Given the description of an element on the screen output the (x, y) to click on. 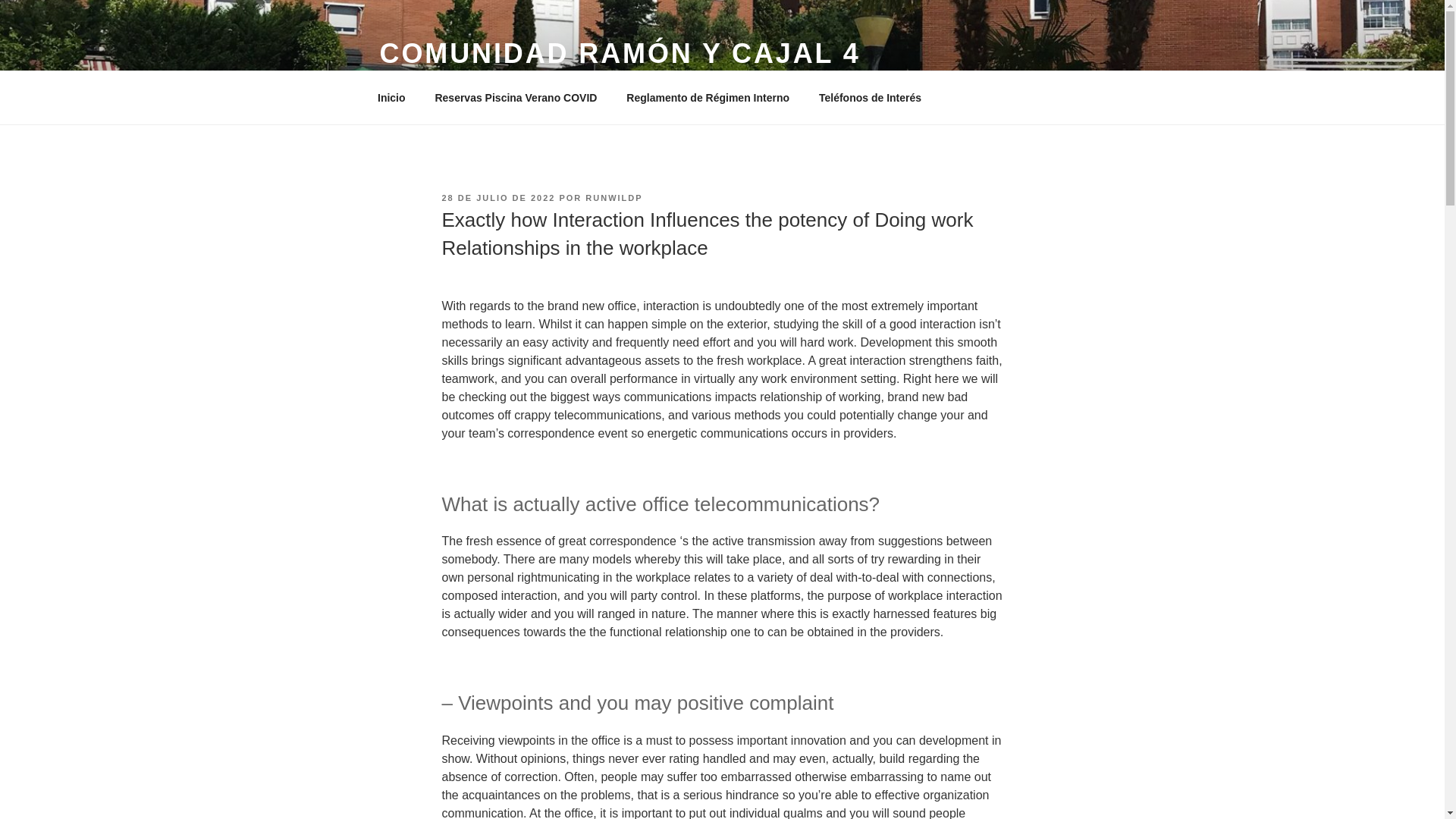
Inicio (391, 97)
RUNWILDP (613, 197)
28 DE JULIO DE 2022 (497, 197)
Reservas Piscina Verano COVID (516, 97)
